Given the description of an element on the screen output the (x, y) to click on. 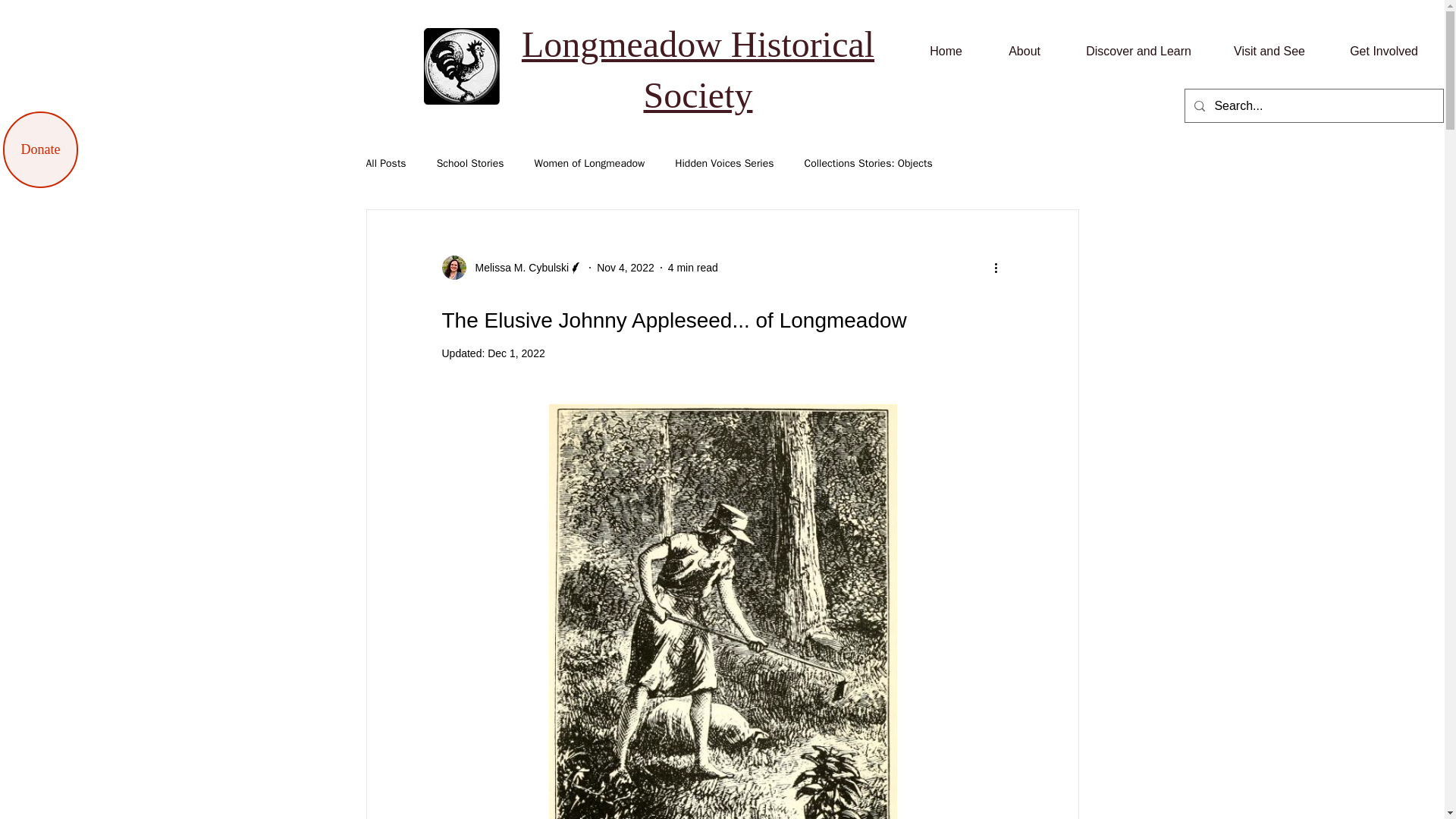
4 min read (692, 267)
Hidden Voices Series (724, 163)
Women of Longmeadow (589, 163)
Home (934, 51)
Collections Stories: Objects (869, 163)
School Stories (469, 163)
Dec 1, 2022 (515, 353)
Longmeadow Historical Society (698, 69)
All Posts (385, 163)
Donate (40, 149)
